Given the description of an element on the screen output the (x, y) to click on. 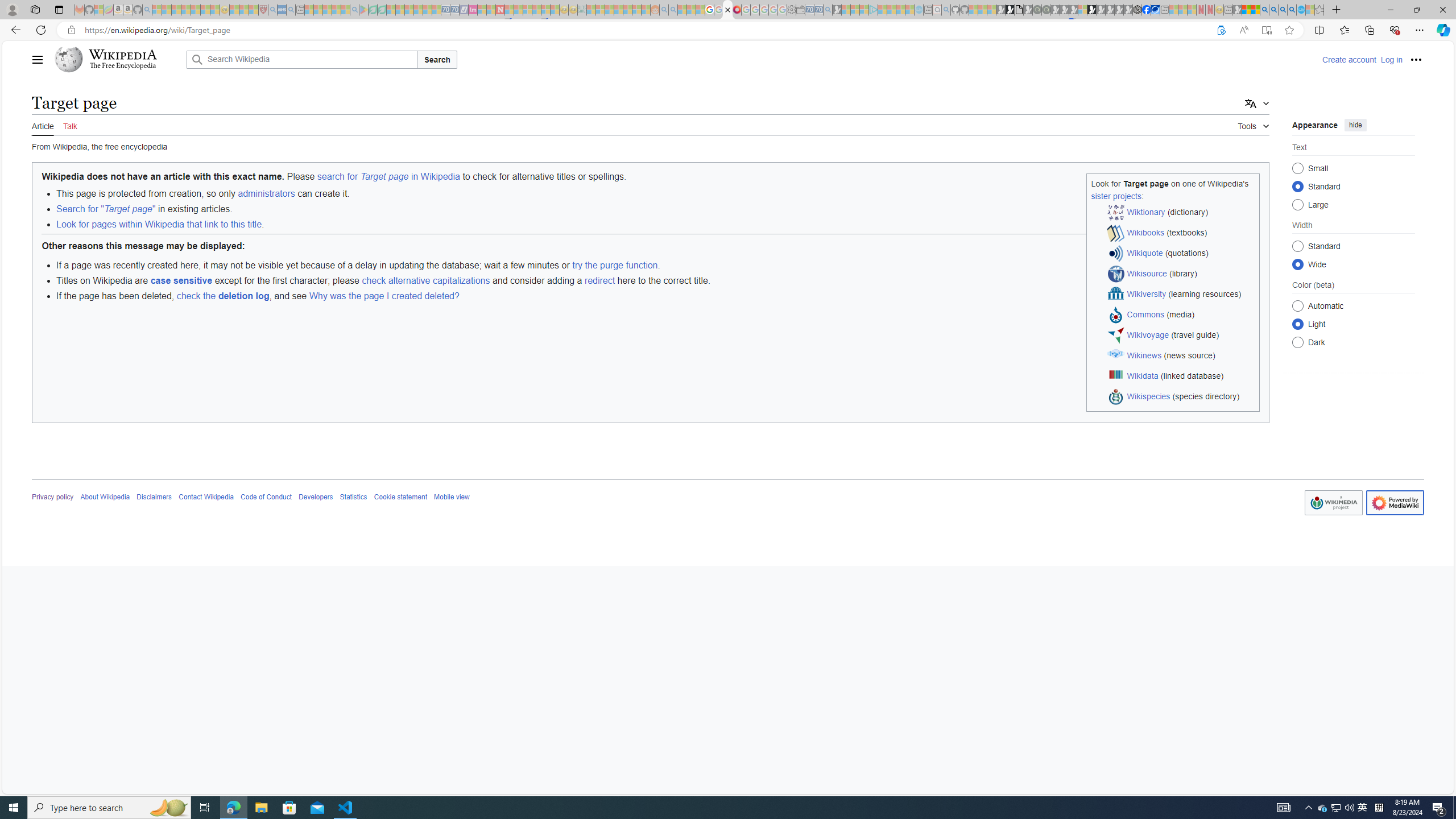
Large (1297, 204)
New Report Confirms 2023 Was Record Hot | Watch - Sleeping (195, 9)
Wikidata (linked database) (1181, 376)
hide (1355, 124)
Privacy policy (53, 497)
AirNow.gov (1154, 9)
Look for pages within Wikipedia that link to this title. (657, 224)
Light (1297, 323)
sister projects (1115, 195)
Log in (1391, 58)
